Given the description of an element on the screen output the (x, y) to click on. 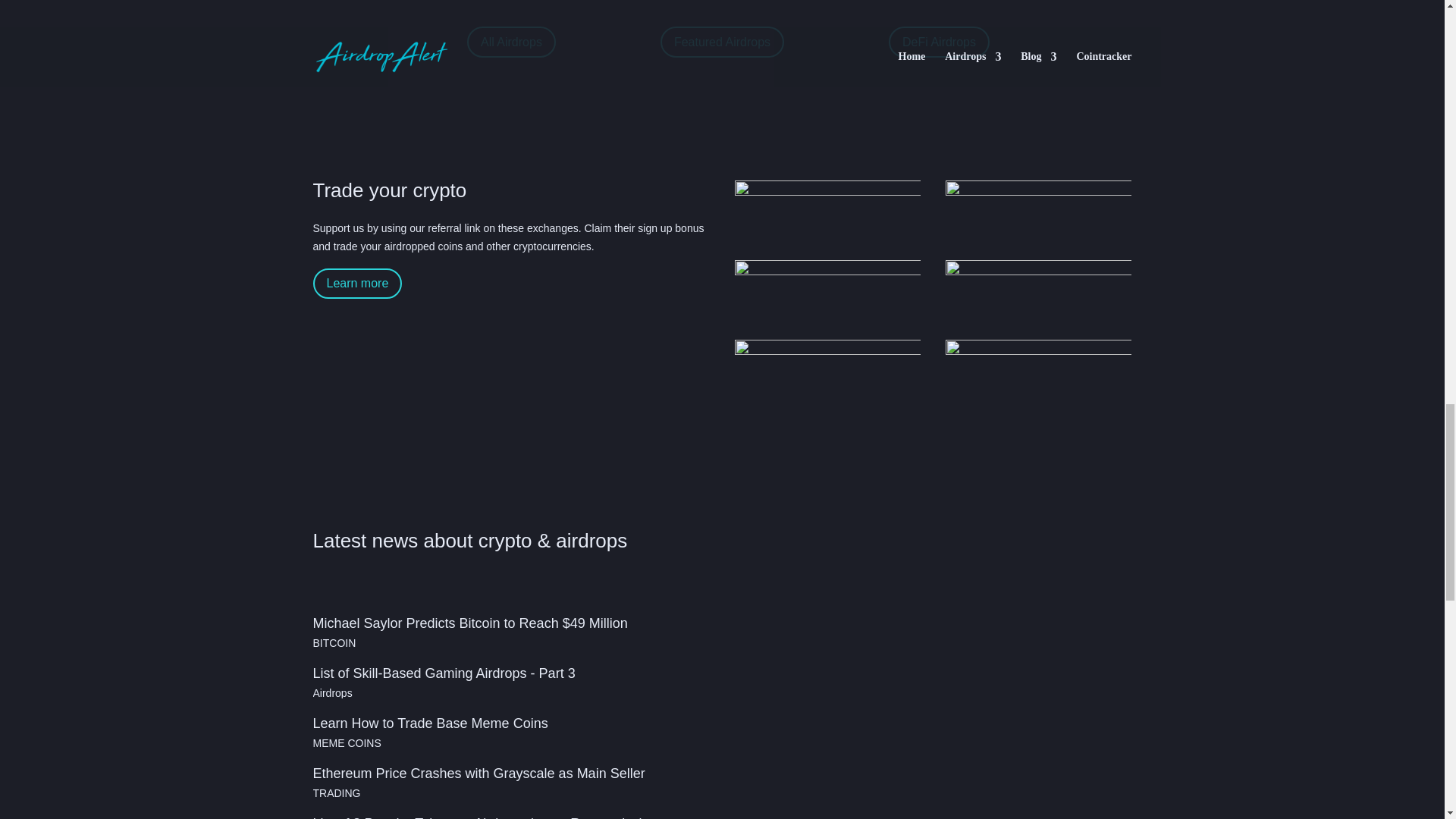
Featured Airdrops (722, 41)
AA-logos-aevo (828, 373)
prime-xbt-logo-airdropalert (1038, 293)
DeFi Airdrops (939, 41)
All Airdrops (511, 41)
AA-logos-exchanges-kucoin (828, 293)
Airdropalert-Binance-logo (1038, 214)
airdropalert-bybit-logo (828, 214)
mexc-logo-airdropalert (1038, 373)
